Given the description of an element on the screen output the (x, y) to click on. 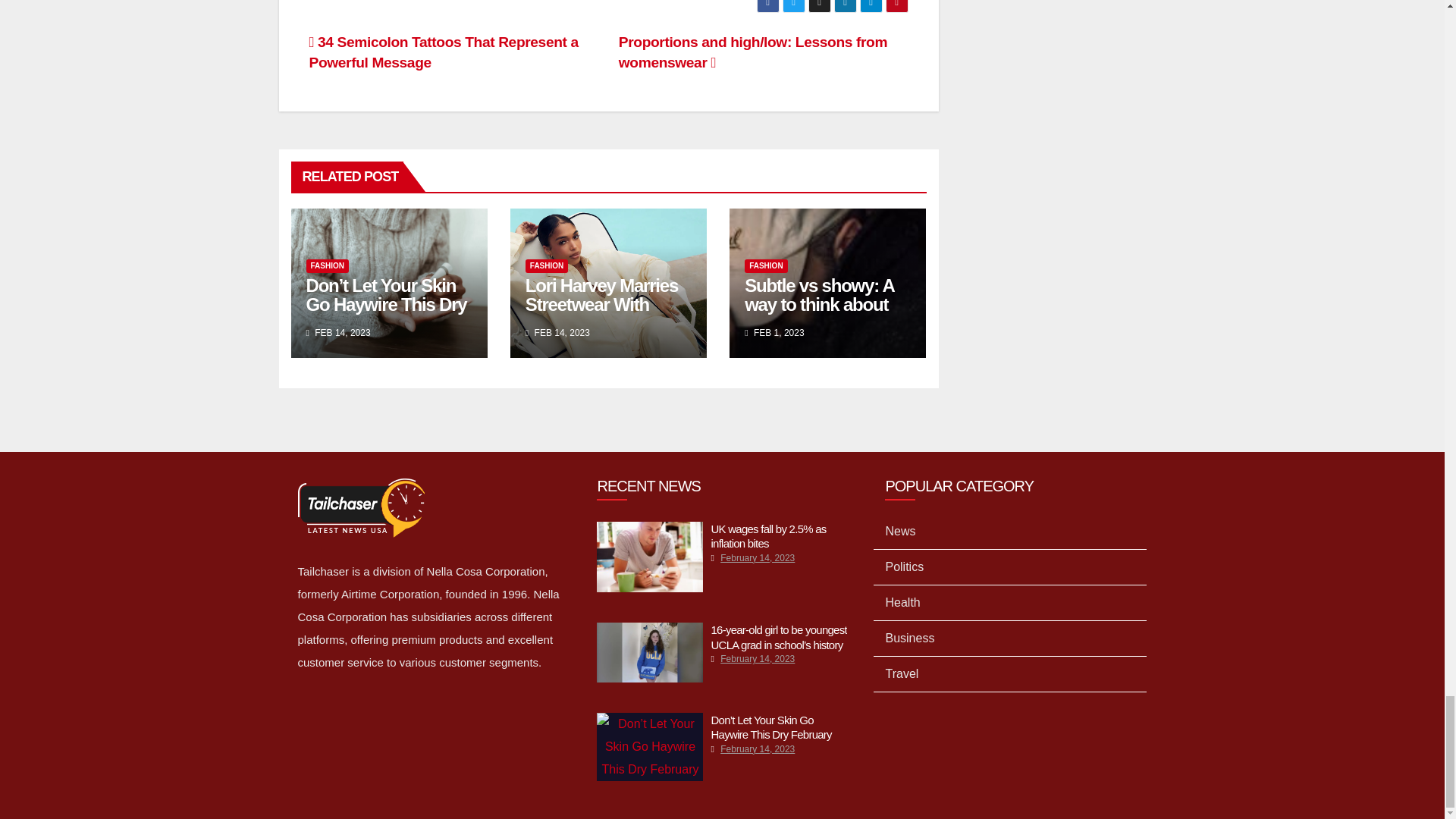
34 Semicolon Tattoos That Represent a Powerful Message (443, 52)
FASHION (765, 265)
Subtle vs showy: A way to think about casual clothing (818, 304)
FASHION (327, 265)
FASHION (546, 265)
